Given the description of an element on the screen output the (x, y) to click on. 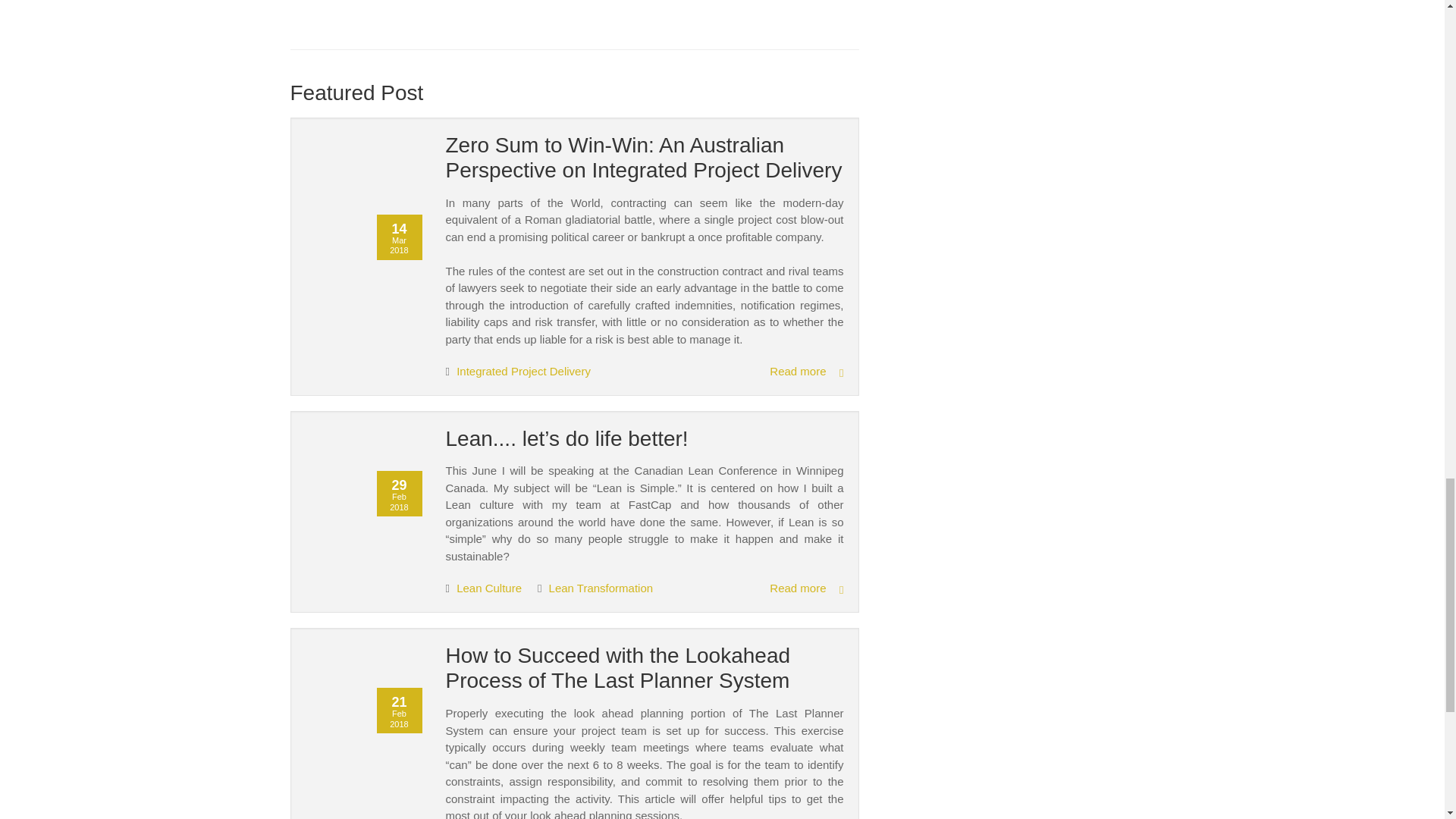
Read more (806, 371)
Lean Transformation (600, 587)
Read more (806, 588)
Lean Culture (490, 587)
Integrated Project Delivery (524, 370)
